Given the description of an element on the screen output the (x, y) to click on. 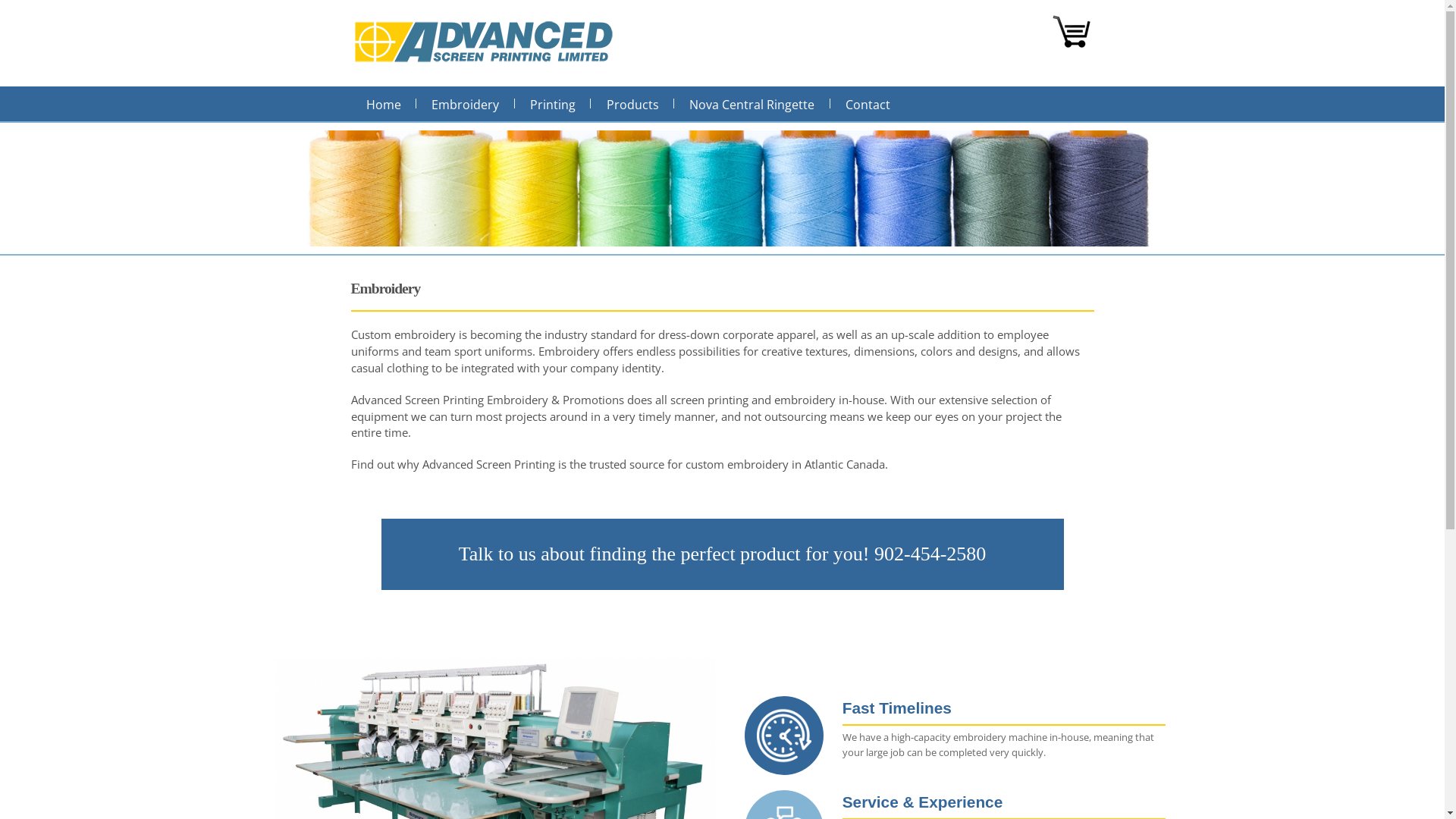
Fast Timelines Element type: text (896, 707)
Nova Central Ringette Element type: text (752, 104)
Printing Element type: text (552, 104)
Service & Experience Element type: text (922, 801)
Skip to main content Element type: text (694, 1)
Embroidery Element type: text (465, 104)
Contact Element type: text (868, 104)
Home Element type: text (383, 104)
